Given the description of an element on the screen output the (x, y) to click on. 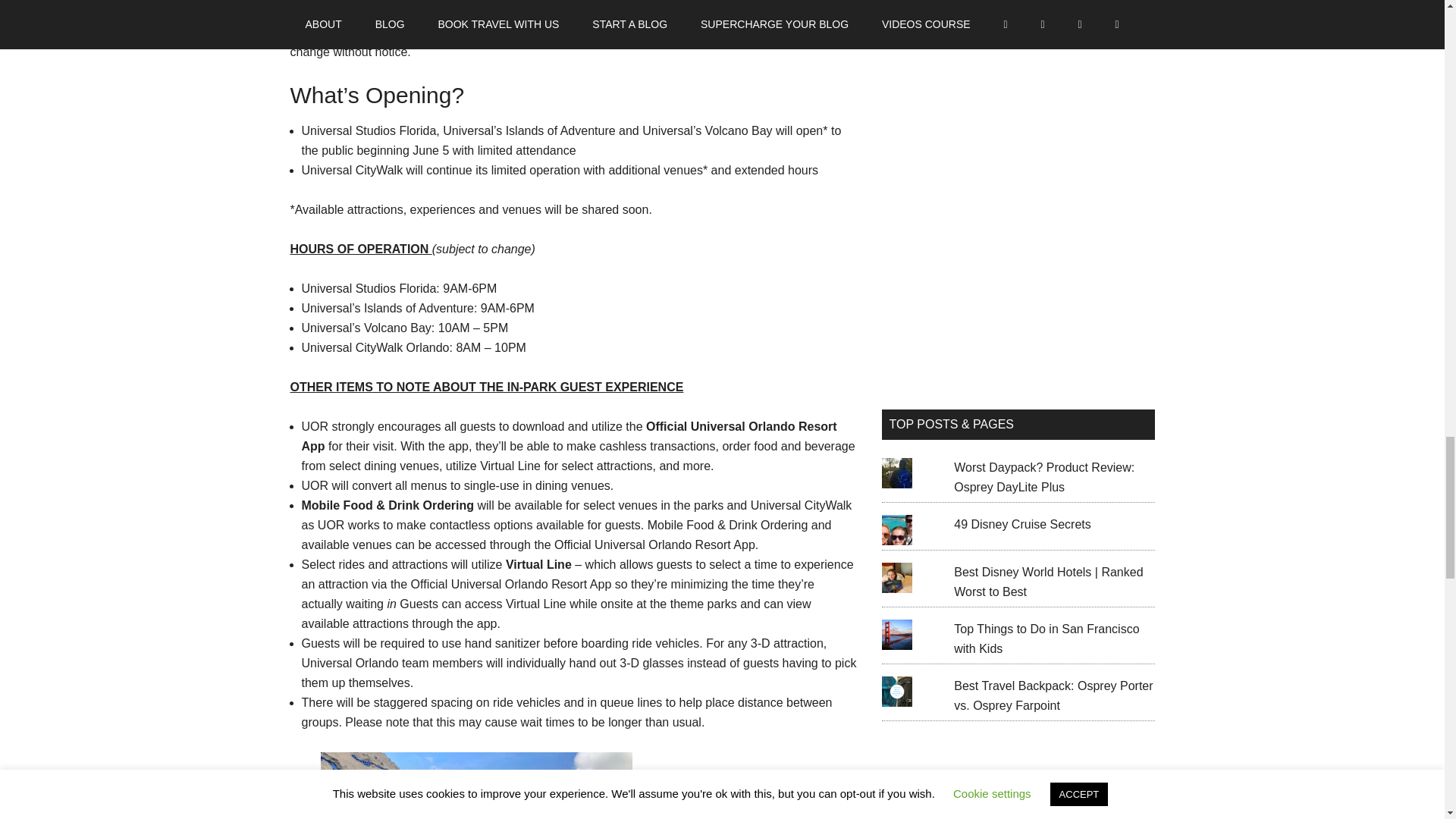
Worst Daypack? Product Review: Osprey DayLite Plus (1043, 477)
49 Disney Cruise Secrets (1021, 523)
